Given the description of an element on the screen output the (x, y) to click on. 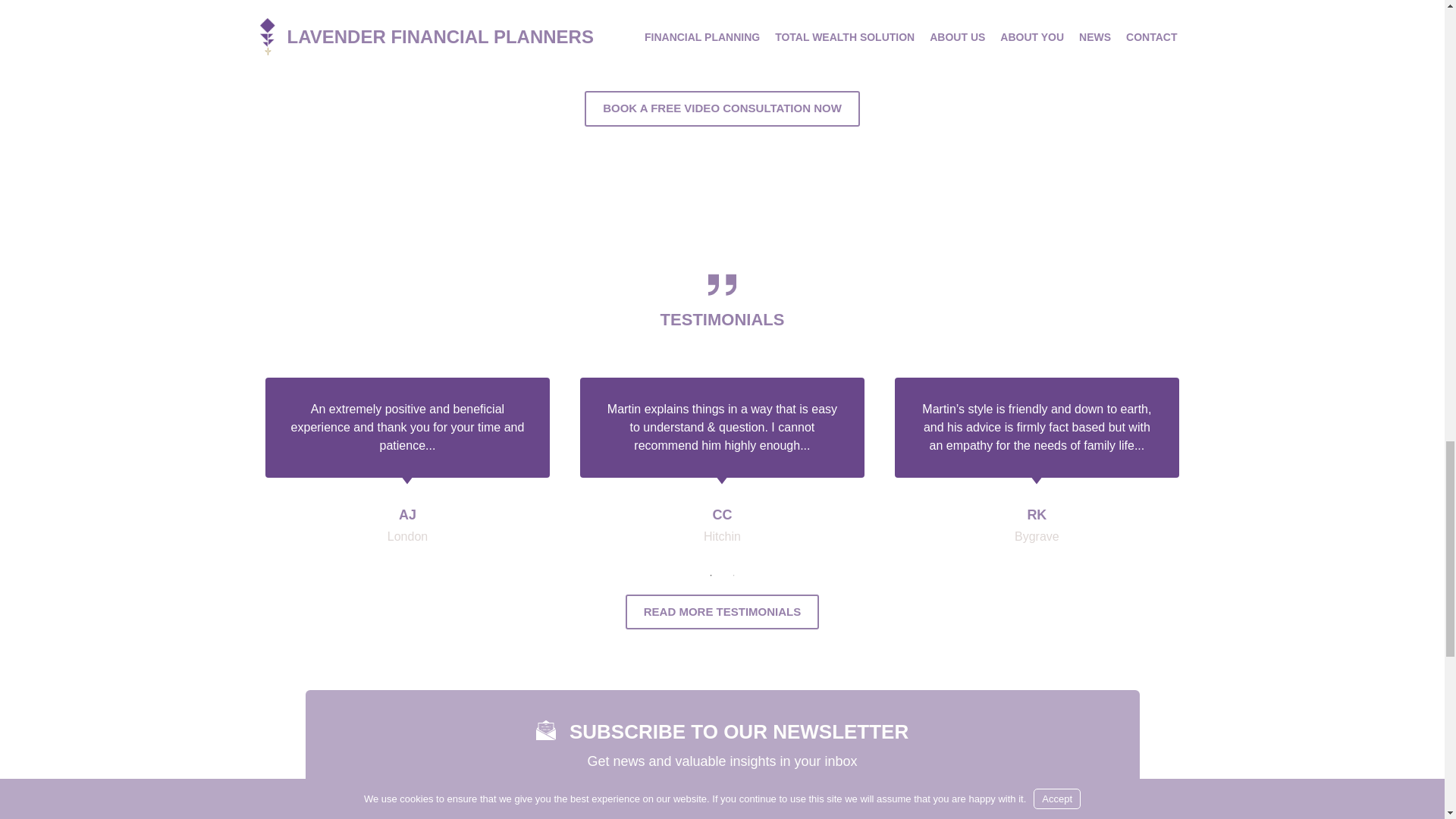
2 (733, 575)
1 (711, 575)
Subscribe (1000, 815)
BOOK A FREE VIDEO CONSULTATION NOW (722, 108)
Subscribe (1000, 815)
READ MORE TESTIMONIALS (722, 611)
